Given the description of an element on the screen output the (x, y) to click on. 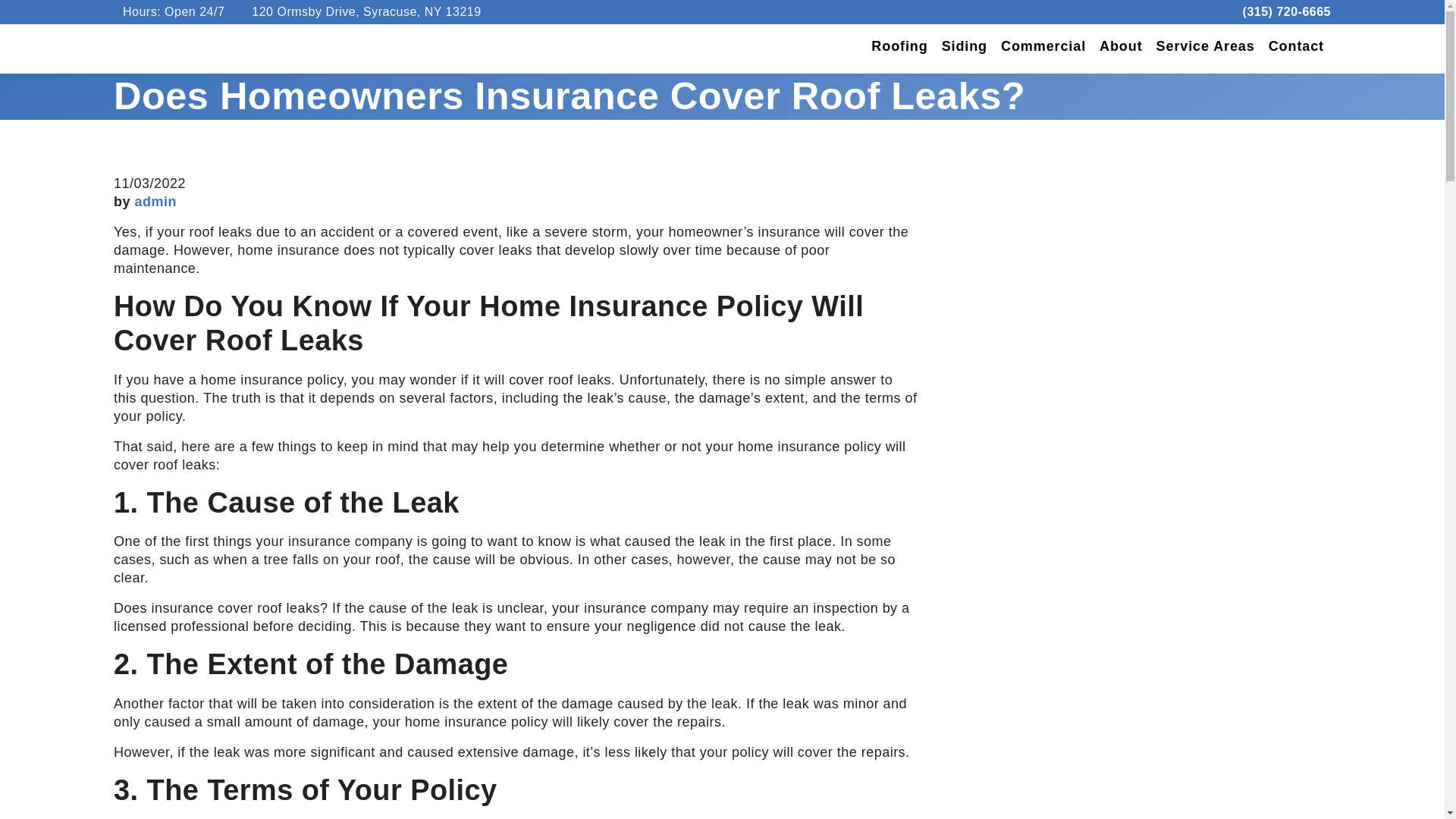
Roofing (899, 48)
Siding (964, 48)
Service Areas (1206, 48)
Commercial (1043, 48)
About (1120, 48)
